Given the description of an element on the screen output the (x, y) to click on. 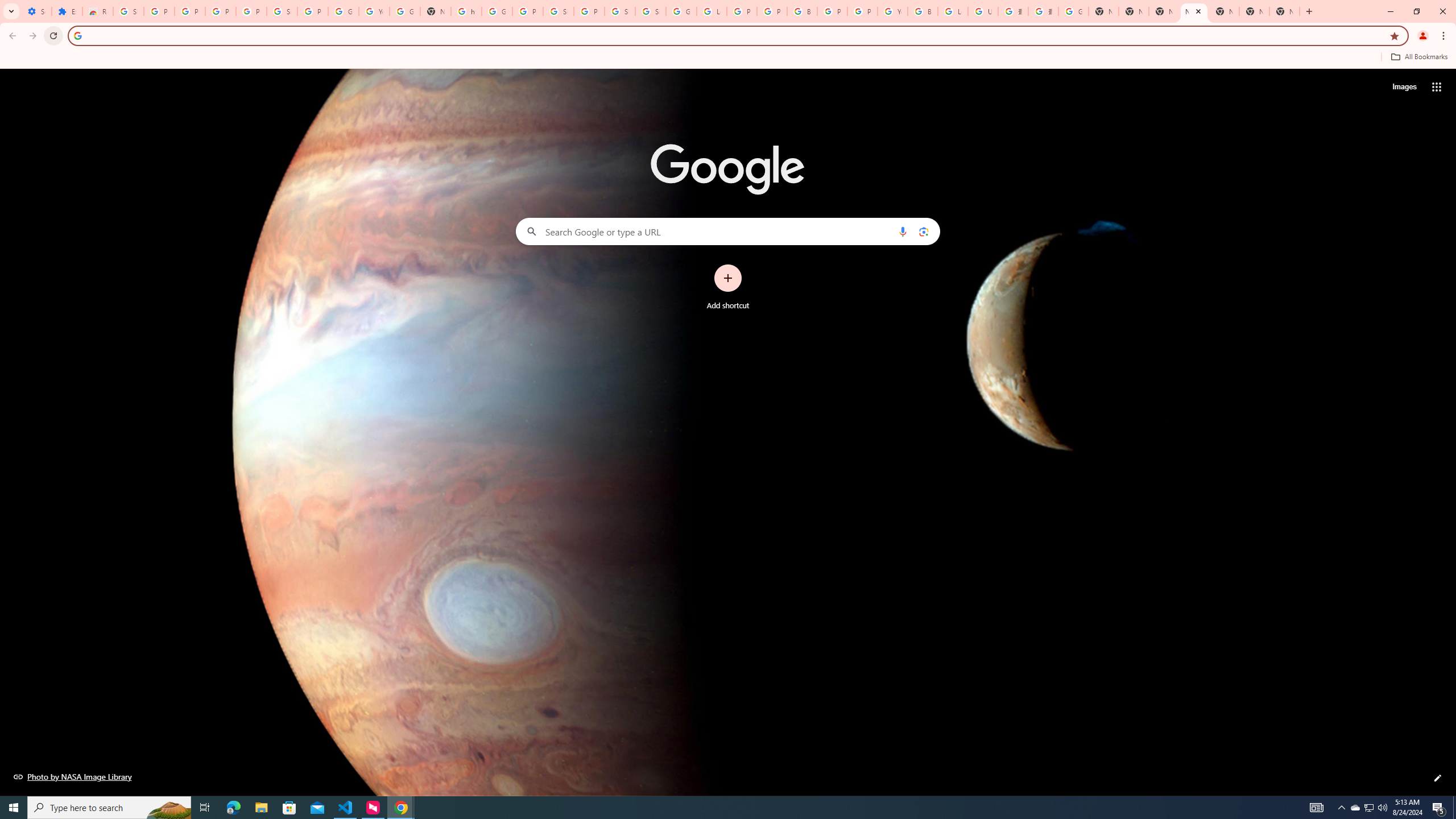
New Tab (1193, 11)
Google Account (343, 11)
Google Images (1072, 11)
Reviews: Helix Fruit Jump Arcade Game (97, 11)
